Given the description of an element on the screen output the (x, y) to click on. 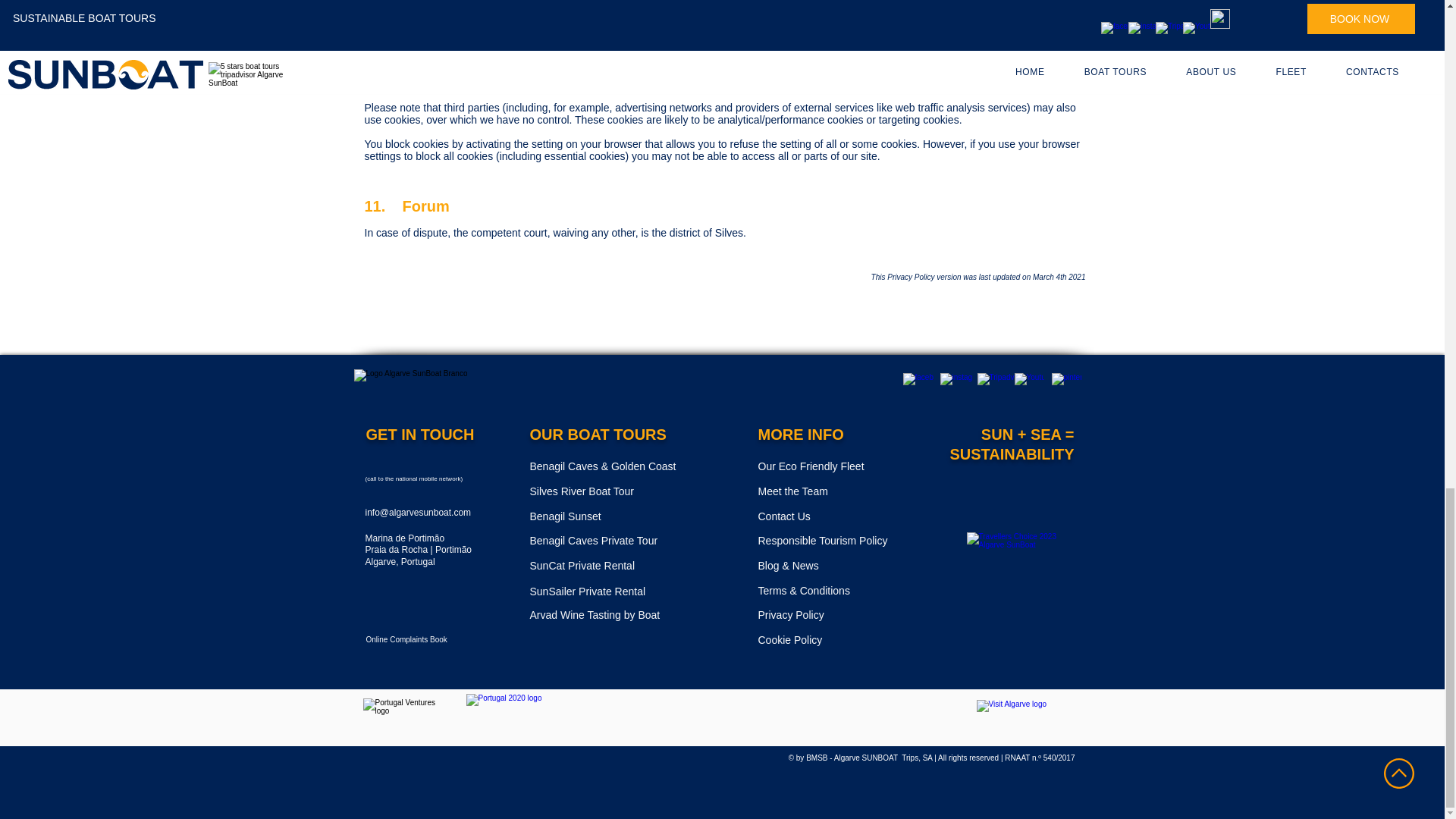
Meet the Team (834, 491)
Silves River Boat Tour (621, 491)
Online Complaints Book (422, 639)
Our Eco Friendly Fleet (834, 466)
Arvad Wine Tasting by Boat (621, 614)
Benagil Sunset (630, 515)
SunCat Private Rental (627, 565)
Benagil Caves Private Tour (621, 540)
SunSailer Private Rental (633, 591)
